Given the description of an element on the screen output the (x, y) to click on. 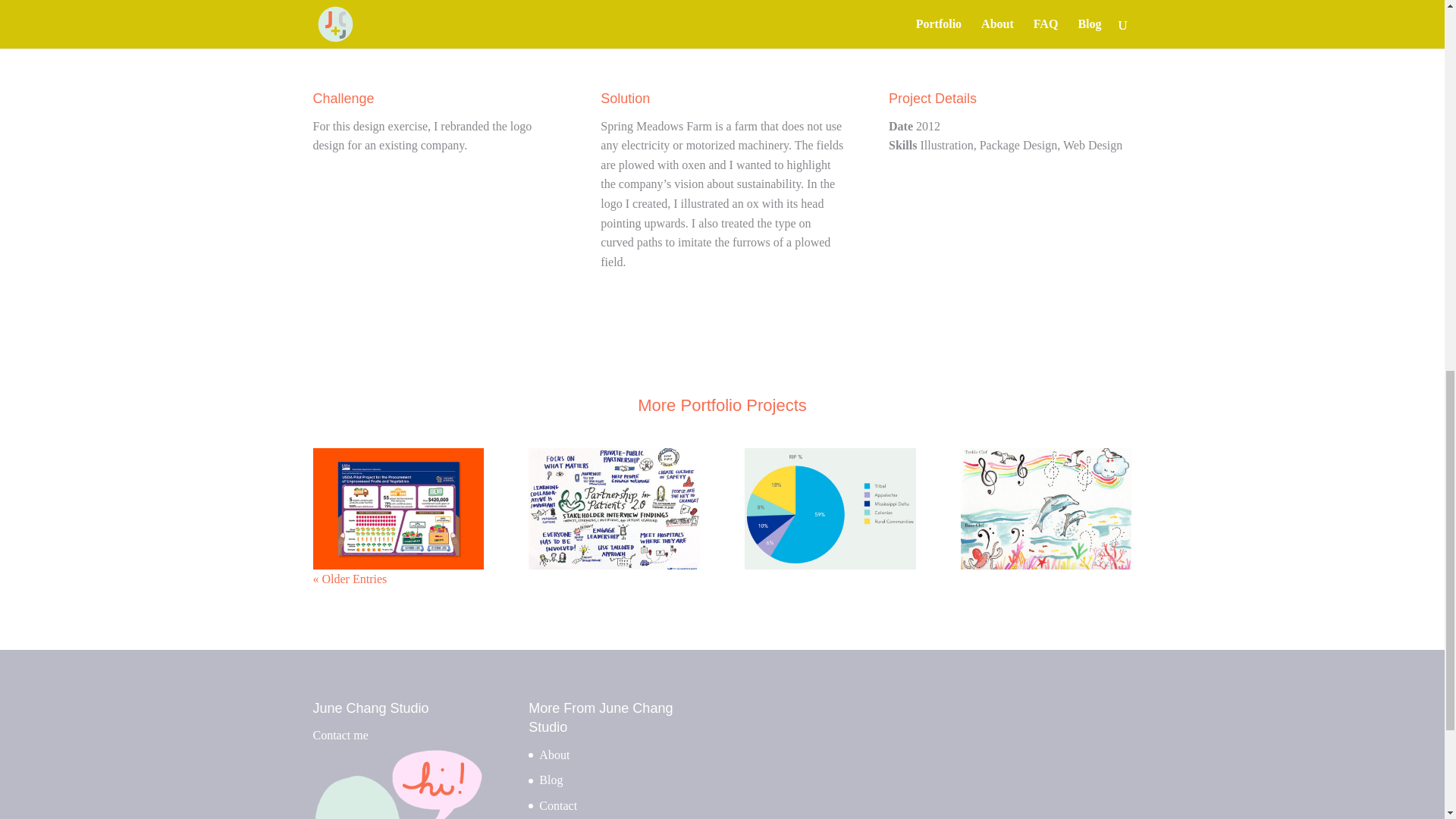
Data Visualizations for a Report (829, 508)
Blog (550, 779)
Graphic Facilitation (613, 508)
About (553, 754)
Contact (557, 805)
Piano Teacher Lesson Materials (1045, 508)
Contact me (398, 773)
Fruits and Vegetables Infographics (398, 508)
